Given the description of an element on the screen output the (x, y) to click on. 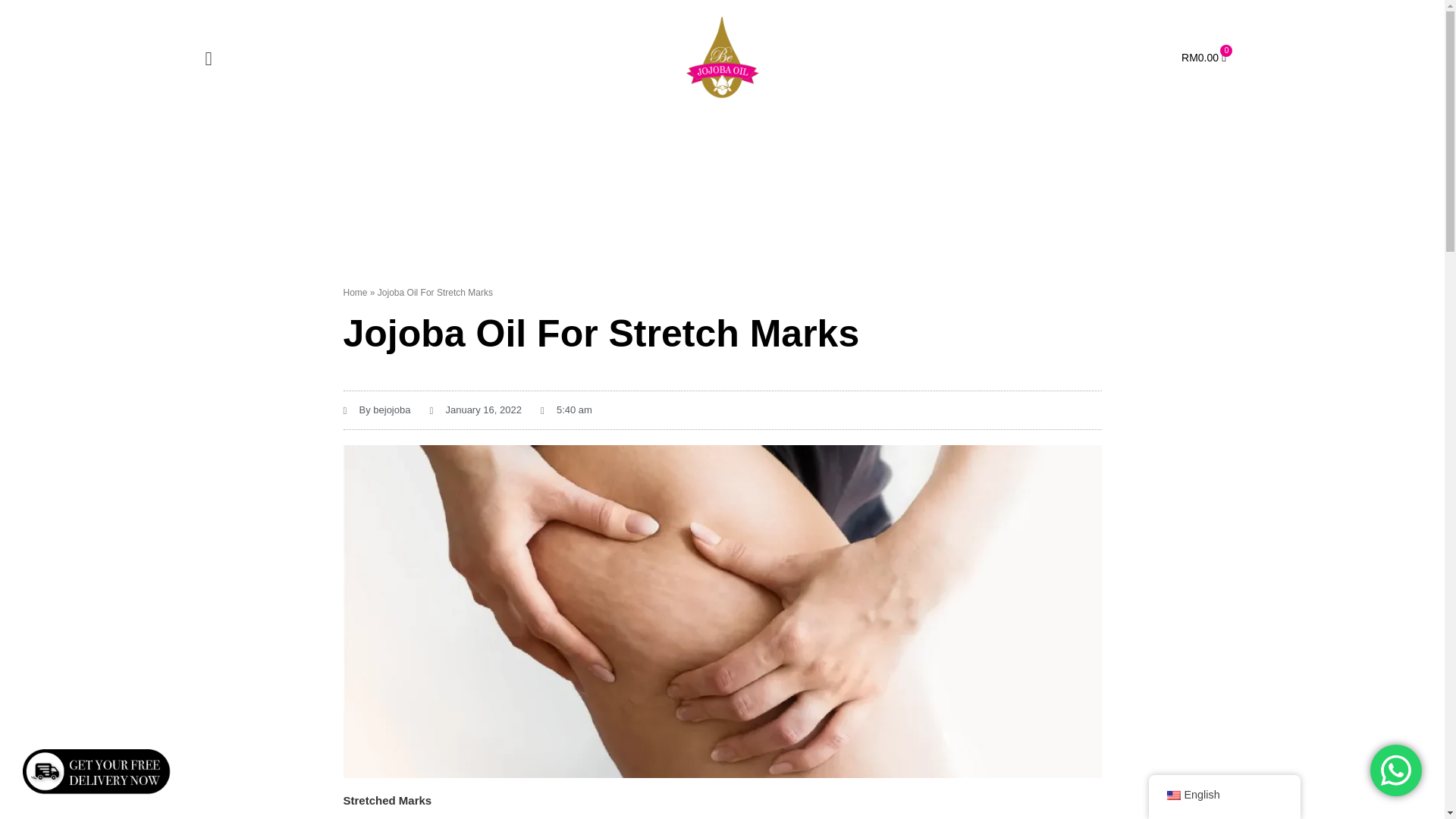
By bejojoba (376, 409)
English (1172, 795)
January 16, 2022 (475, 409)
WhatsApp us (1396, 770)
Home (1202, 56)
